Given the description of an element on the screen output the (x, y) to click on. 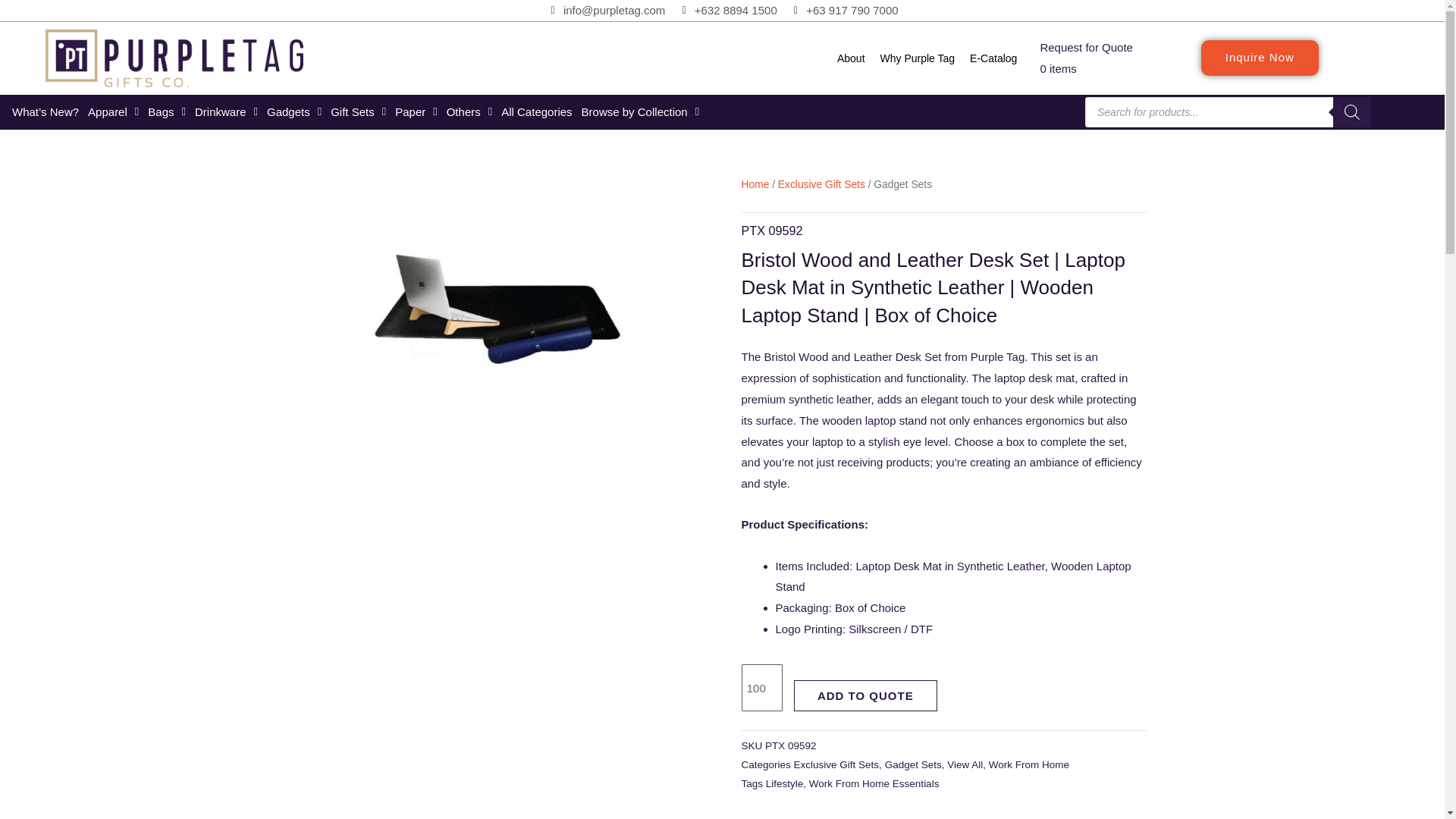
E-Catalog (993, 58)
Drinkware (226, 112)
About (850, 58)
Gadgets (294, 112)
Why Purple Tag (917, 58)
Request for Quote (1085, 47)
Inquire Now (1260, 58)
0 items (1057, 68)
Bags (166, 112)
Apparel (112, 112)
